Given the description of an element on the screen output the (x, y) to click on. 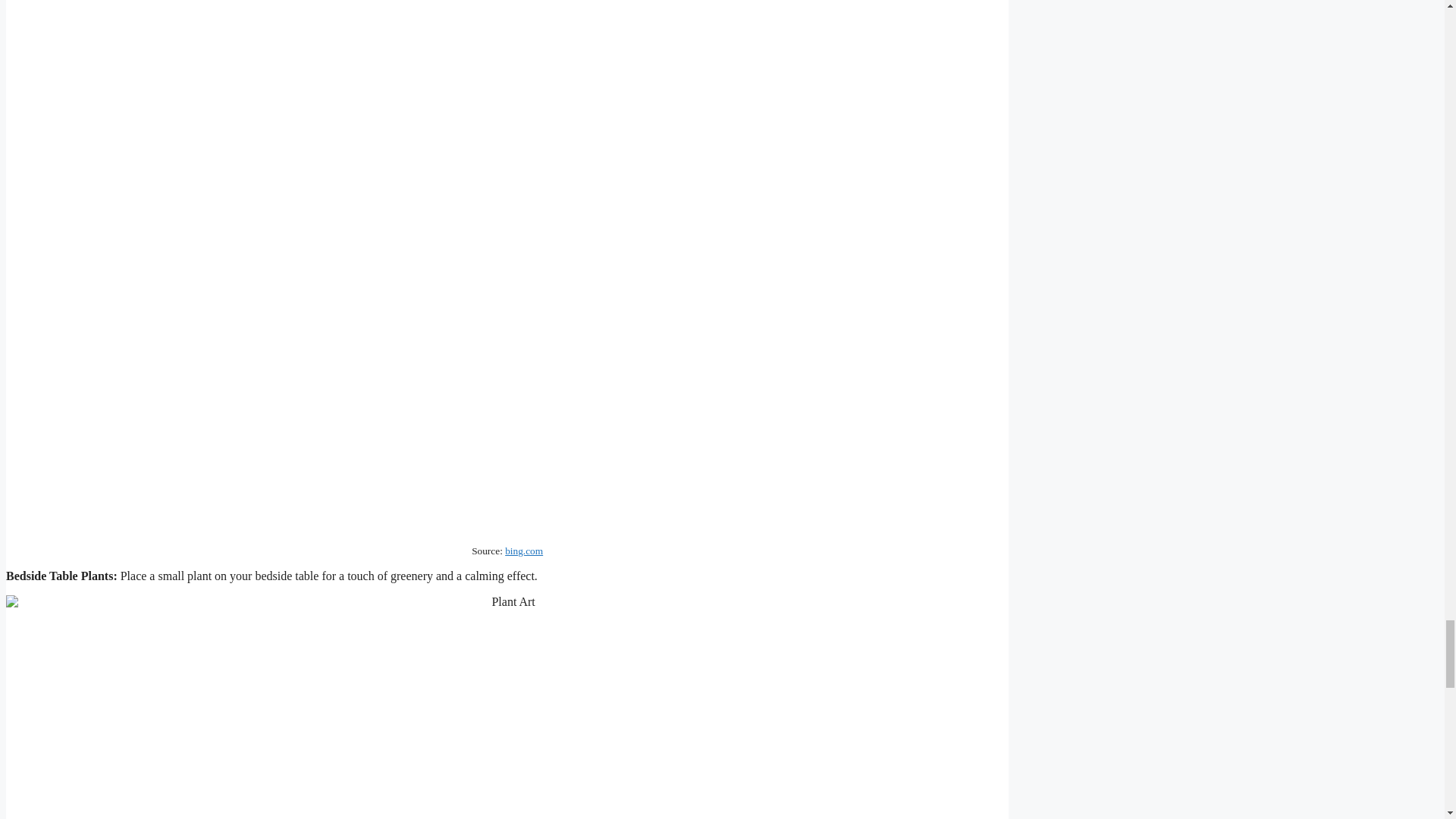
bing.com (524, 550)
